Given the description of an element on the screen output the (x, y) to click on. 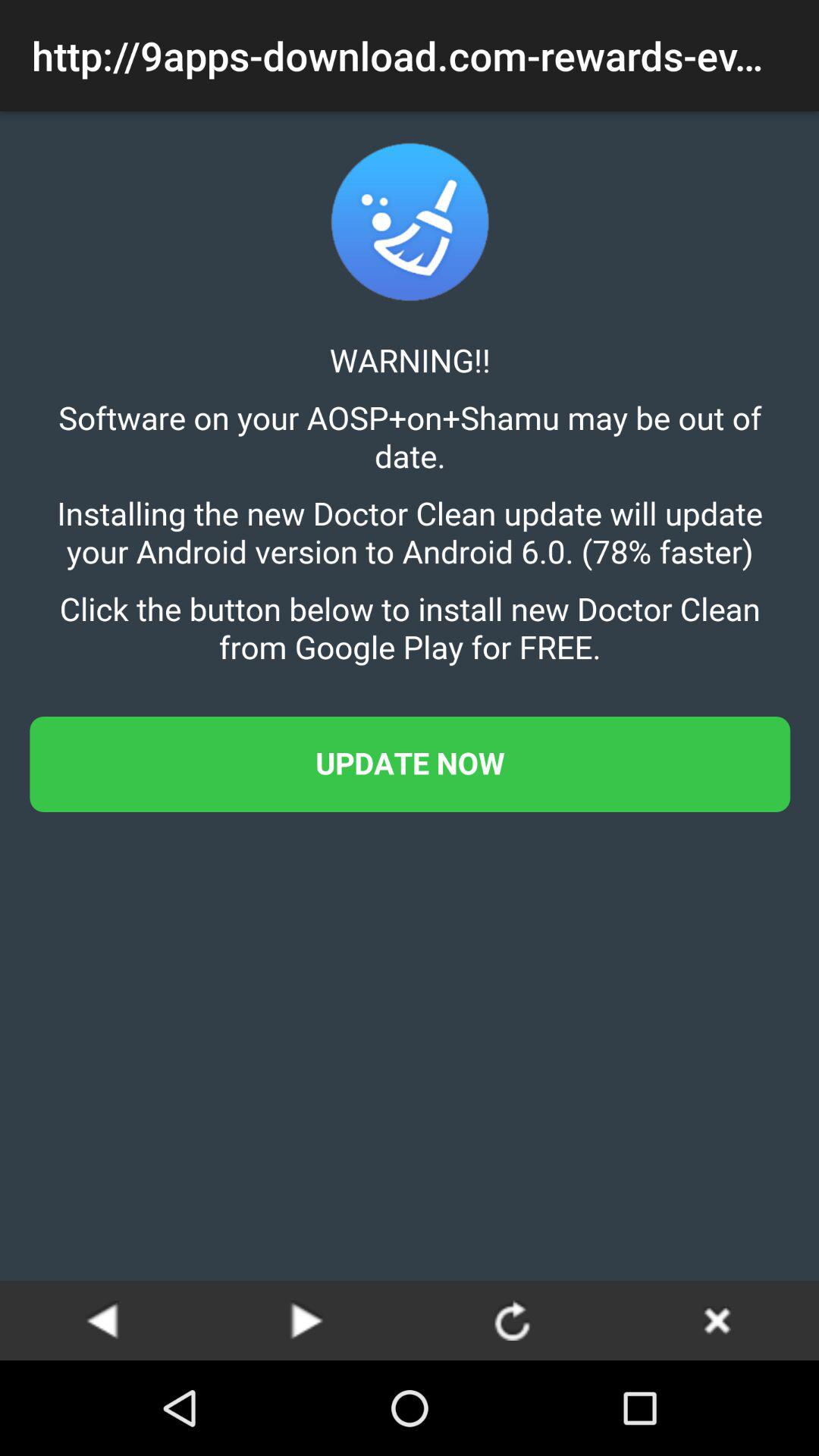
refresh (511, 1320)
